Given the description of an element on the screen output the (x, y) to click on. 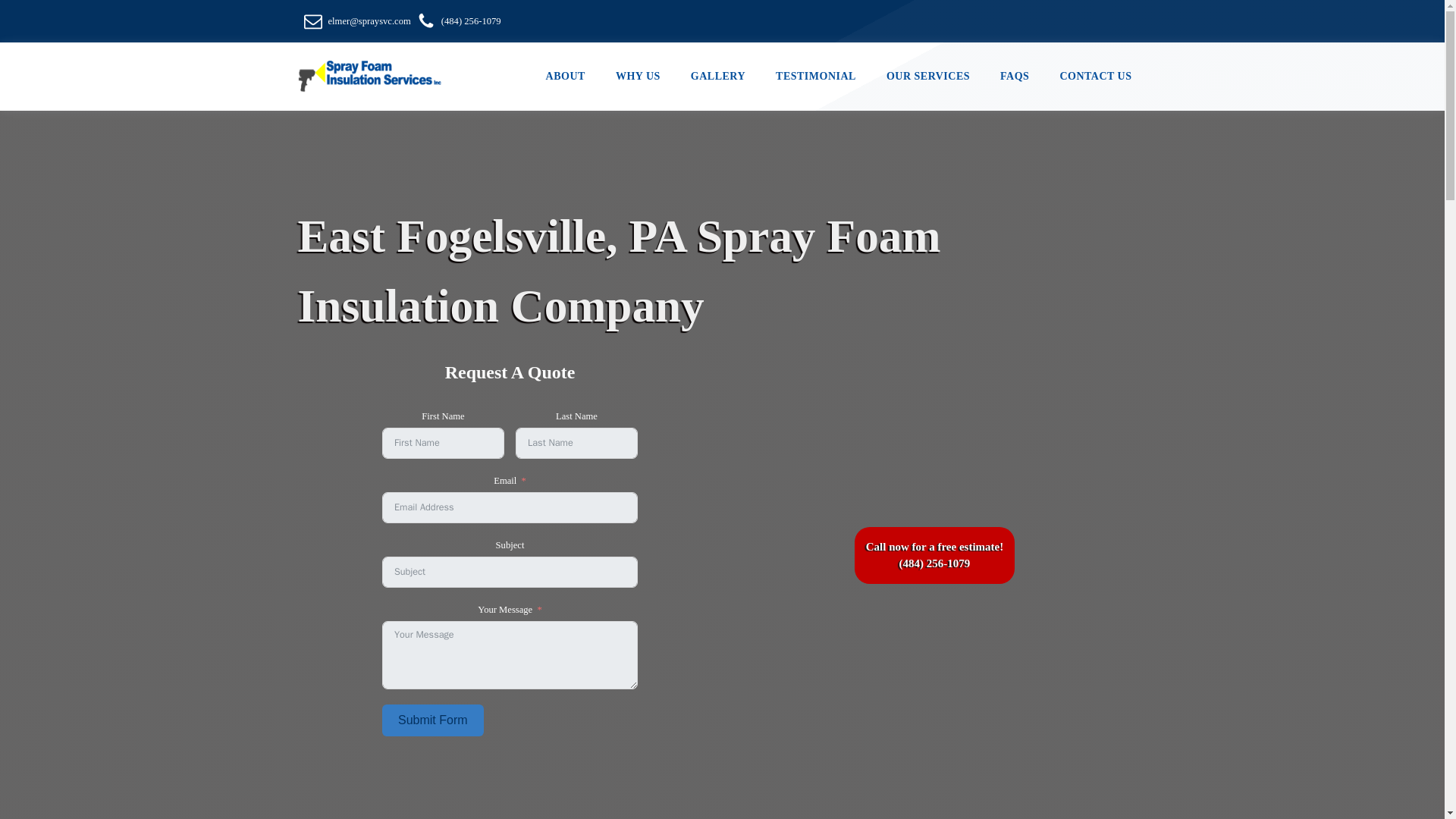
TESTIMONIAL (815, 76)
OUR SERVICES (927, 76)
ABOUT (565, 76)
CONTACT US (1095, 76)
FAQS (1014, 76)
Submit Form (432, 720)
WHY US (637, 76)
GALLERY (717, 76)
